Given the description of an element on the screen output the (x, y) to click on. 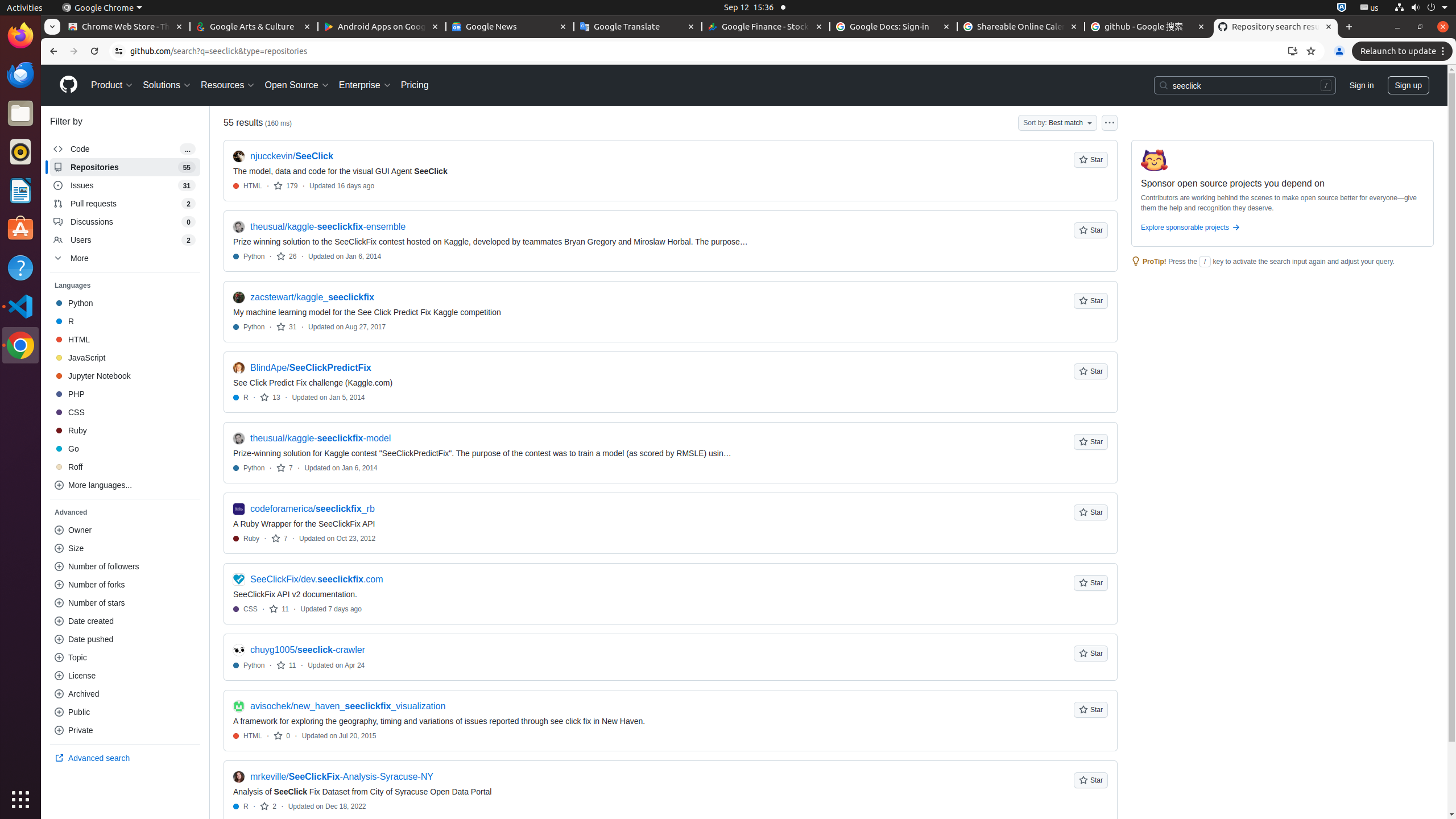
‎Number of stars‎ Element type: push-button (125, 602)
theusual/kaggle-seeclickfix-ensemble Element type: link (328, 226)
:1.72/StatusNotifierItem Element type: menu (1341, 7)
Google Docs: Sign-in - Memory usage - 31.9 MB Element type: page-tab (893, 26)
Explore sponsorable projects Element type: link (1282, 229)
